Given the description of an element on the screen output the (x, y) to click on. 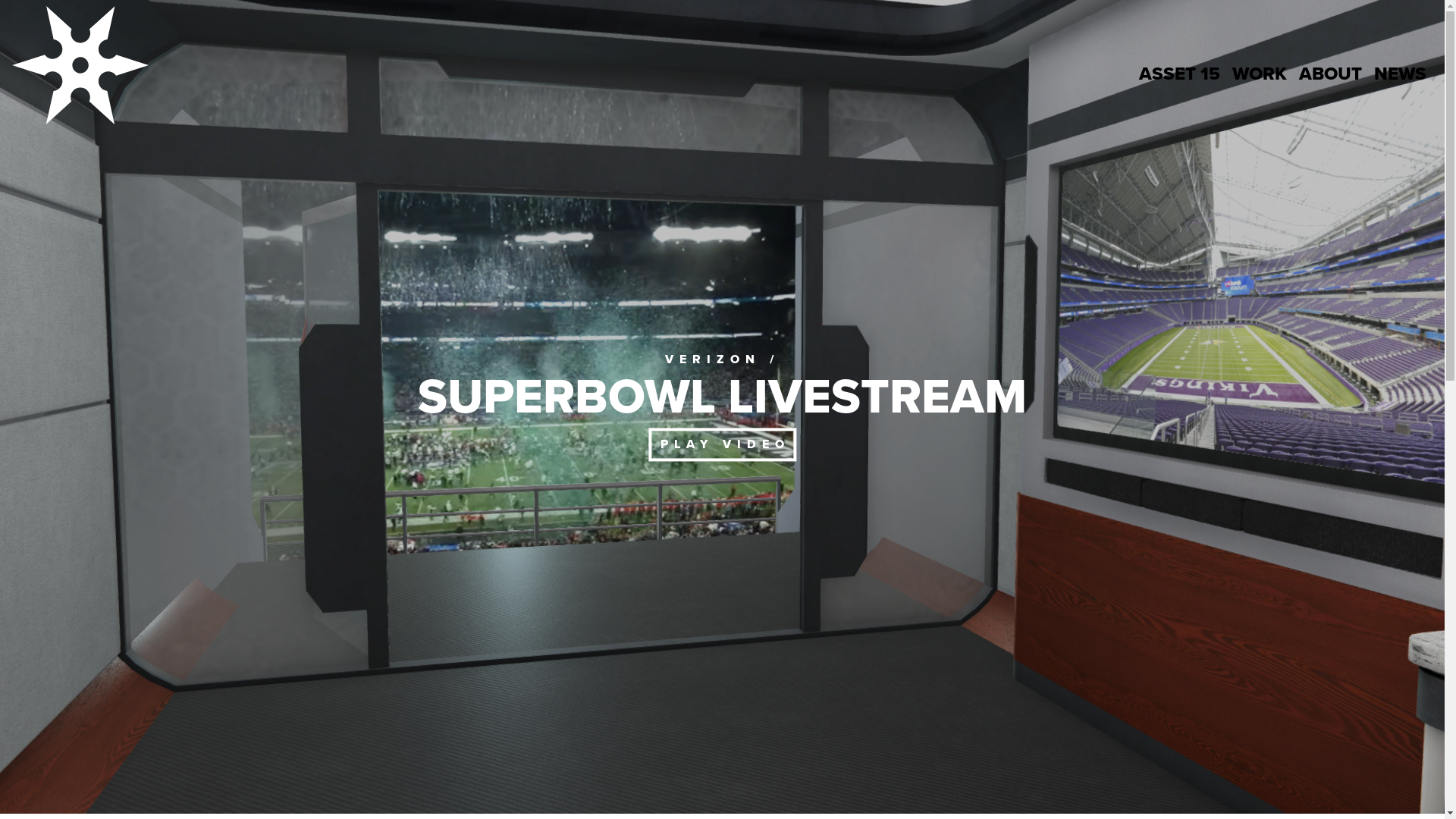
PLAY VIDEO Element type: text (722, 444)
ASSET 15 Element type: text (1179, 74)
WORK Element type: text (1259, 74)
NEWS Element type: text (1400, 74)
30 Ninjas Element type: hover (80, 74)
ABOUT Element type: text (1330, 74)
